Given the description of an element on the screen output the (x, y) to click on. 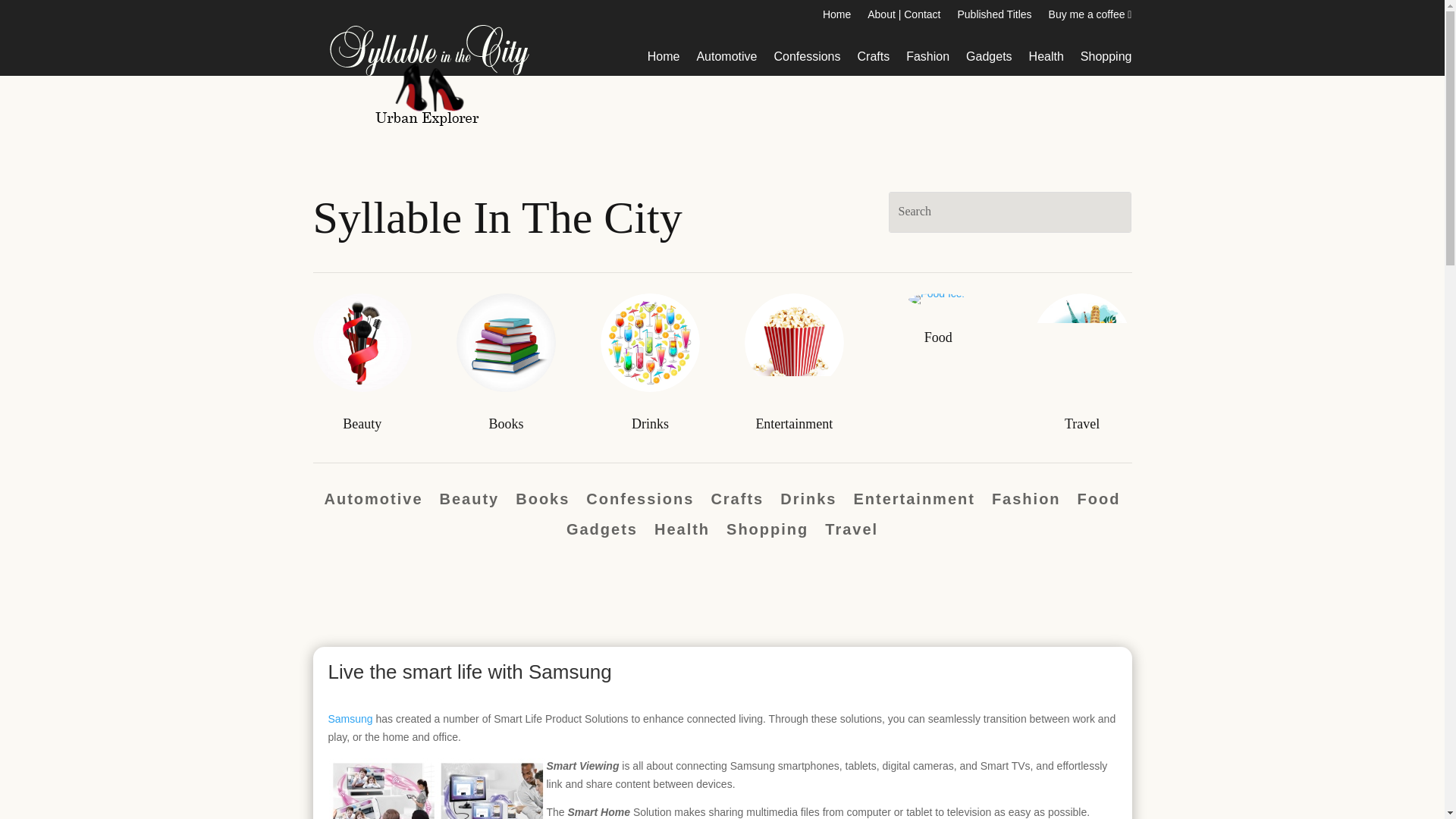
Health (1046, 59)
Drinks (649, 423)
Gadgets (601, 532)
Confessions (806, 59)
Home (836, 17)
Books (542, 501)
Samsung (349, 718)
Fashion (927, 59)
Gadgets (988, 59)
Travel (1081, 423)
